Given the description of an element on the screen output the (x, y) to click on. 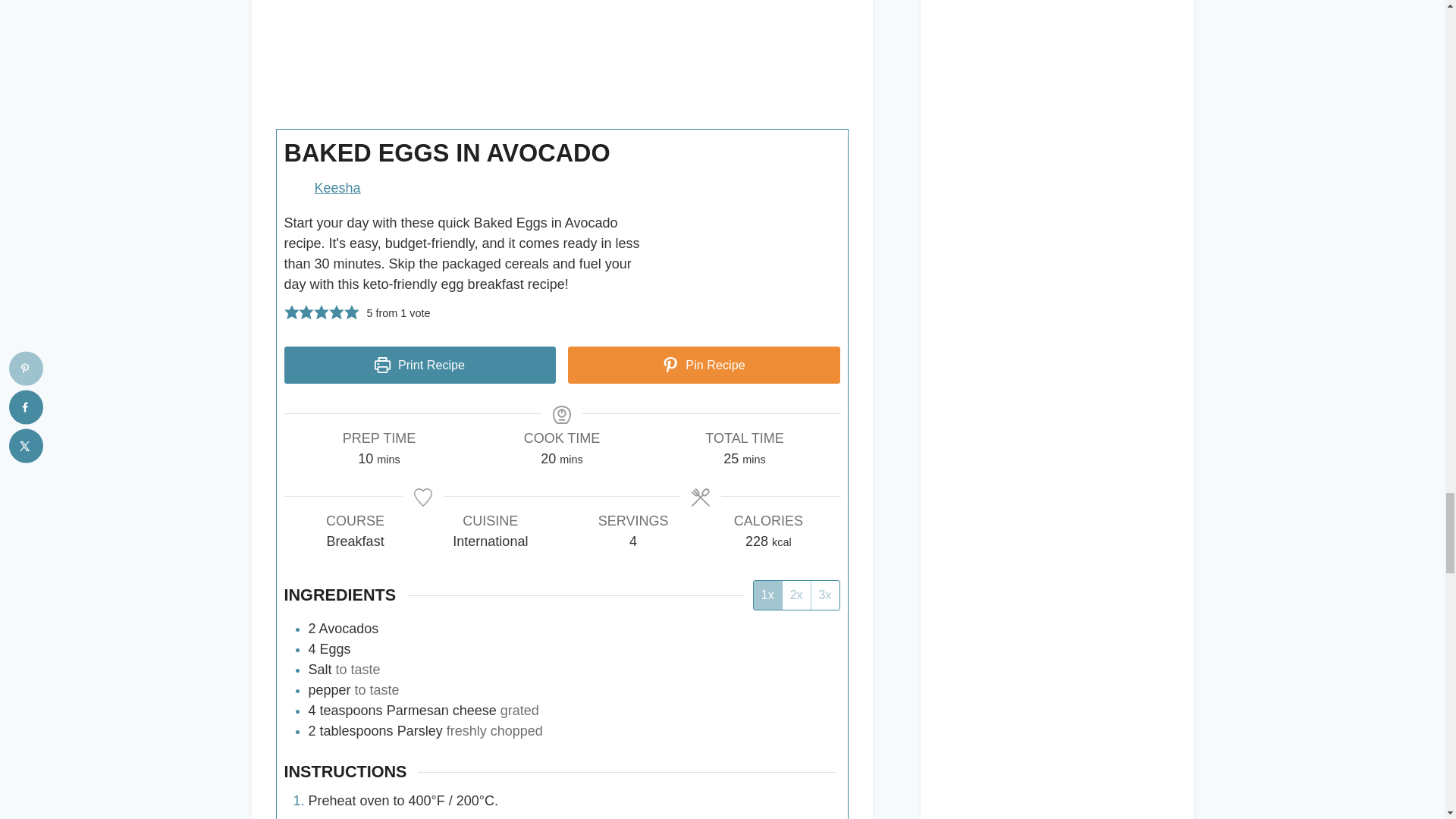
Print Recipe (419, 365)
3x (825, 594)
1x (767, 594)
Keesha (336, 187)
2x (795, 594)
Pin Recipe (703, 365)
